Given the description of an element on the screen output the (x, y) to click on. 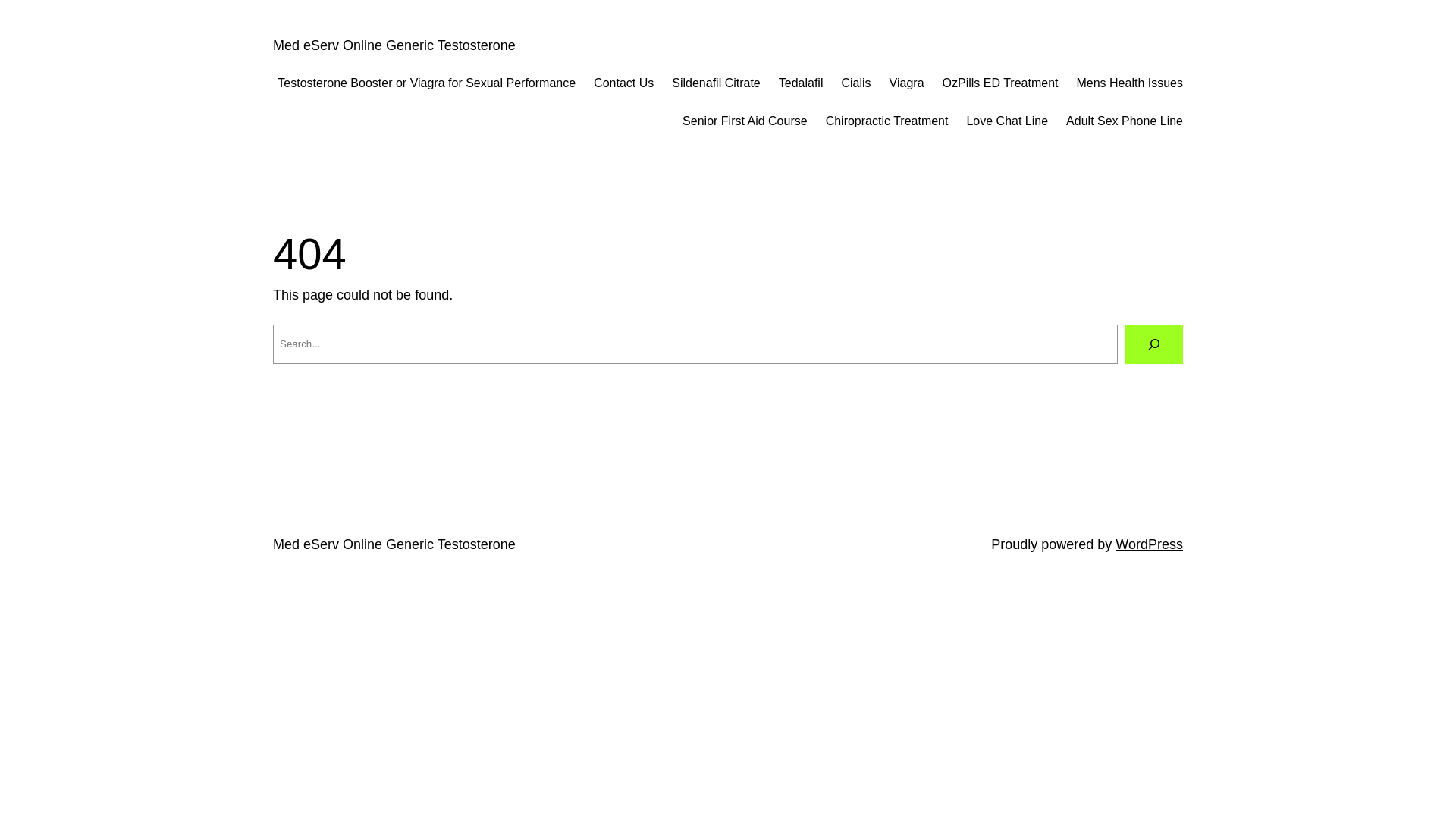
Mens Health Issues Element type: text (1129, 83)
Med eServ Online Generic Testosterone Element type: text (394, 45)
Love Chat Line Element type: text (1007, 121)
OzPills ED Treatment Element type: text (1000, 83)
Tedalafil Element type: text (800, 83)
Chiropractic Treatment Element type: text (886, 121)
WordPress Element type: text (1149, 544)
Viagra Element type: text (906, 83)
Adult Sex Phone Line Element type: text (1124, 121)
Sildenafil Citrate Element type: text (715, 83)
Cialis Element type: text (855, 83)
Med eServ Online Generic Testosterone Element type: text (394, 544)
Testosterone Booster or Viagra for Sexual Performance Element type: text (426, 83)
Contact Us Element type: text (623, 83)
Senior First Aid Course Element type: text (744, 121)
